Given the description of an element on the screen output the (x, y) to click on. 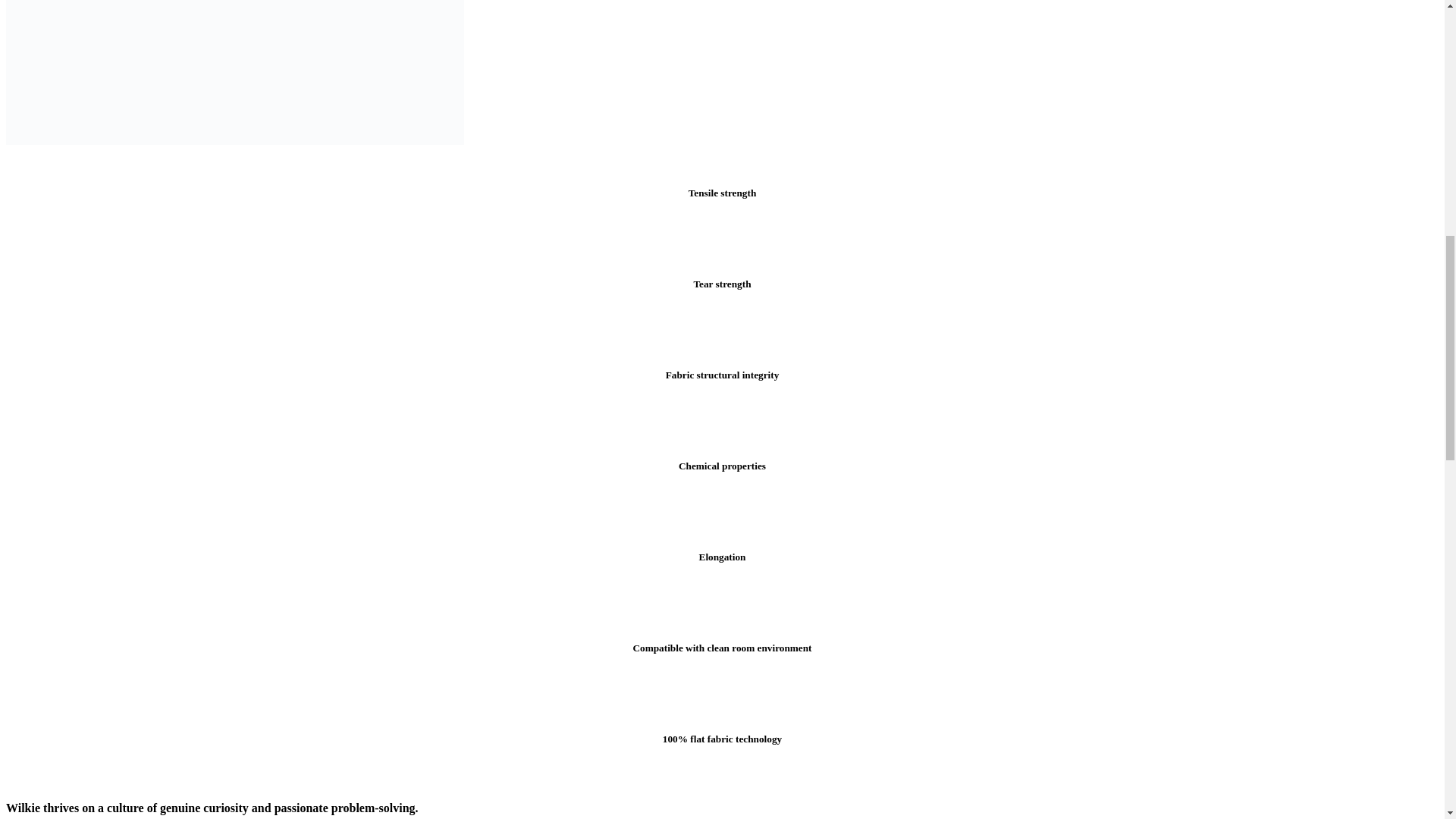
rubber (234, 72)
